Given the description of an element on the screen output the (x, y) to click on. 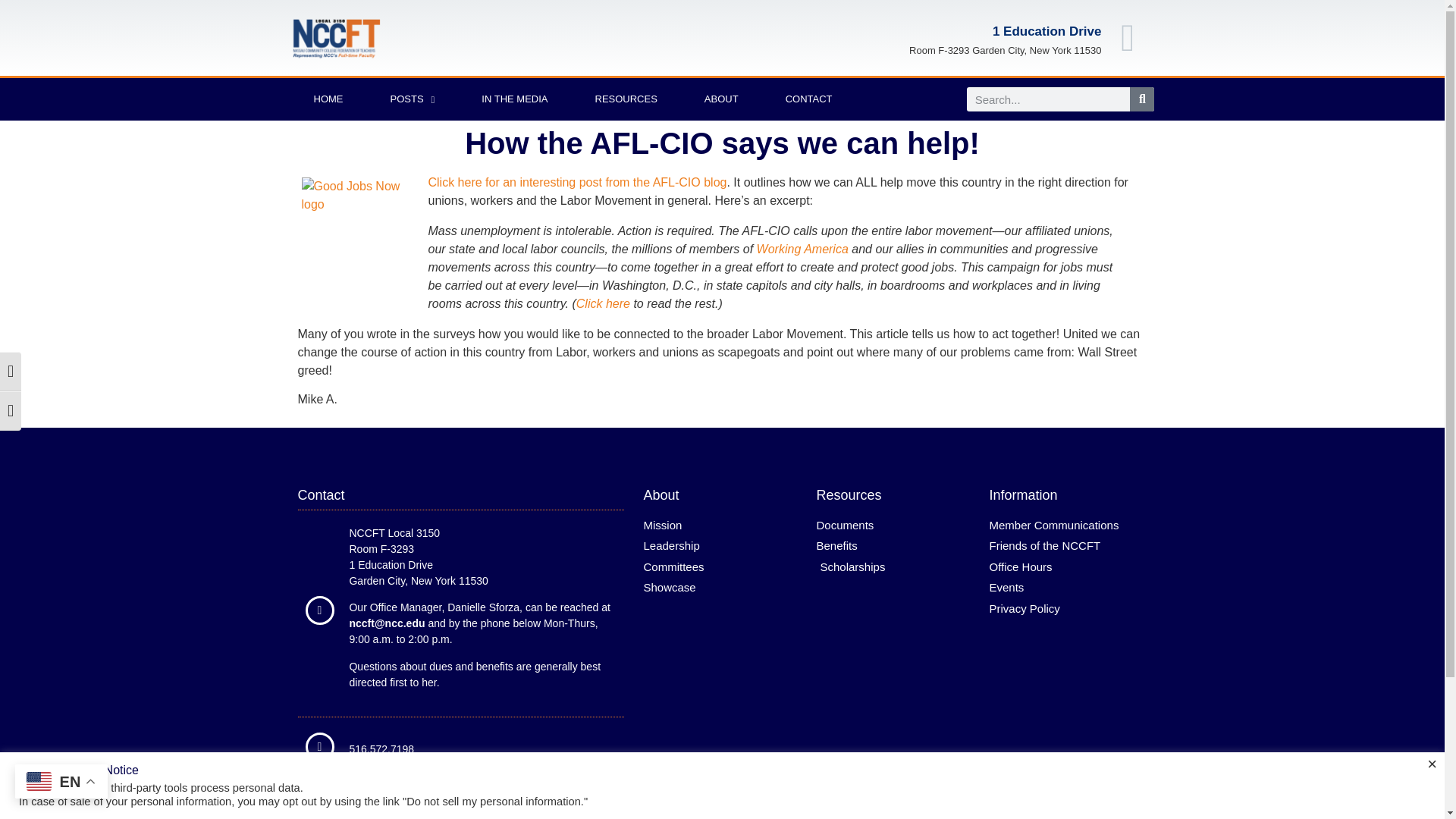
Showcase (721, 588)
Working America (802, 248)
Do not sell my personal information (493, 801)
Click here (603, 303)
Friends of the NCCFT (1067, 546)
Events (1067, 588)
HOME (327, 98)
CONTACT (808, 98)
Documents (894, 525)
Committees (721, 567)
Mission (721, 525)
Privacy Policy (1067, 609)
ABOUT (721, 98)
Click here for an interesting post from the AFL-CIO blog (577, 182)
RESOURCES (626, 98)
